Given the description of an element on the screen output the (x, y) to click on. 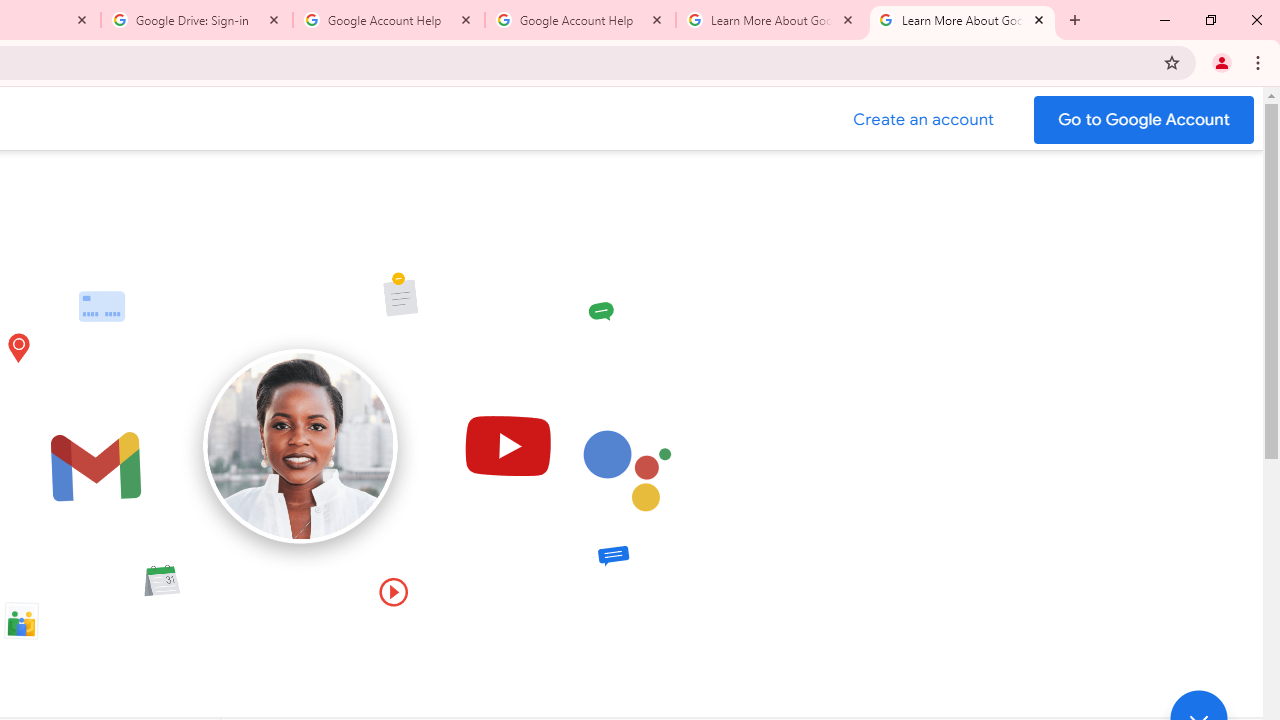
Google Drive: Sign-in (197, 20)
Go to your Google Account (1144, 119)
Google Account Help (580, 20)
Google Account Help (389, 20)
Create a Google Account (923, 119)
